Given the description of an element on the screen output the (x, y) to click on. 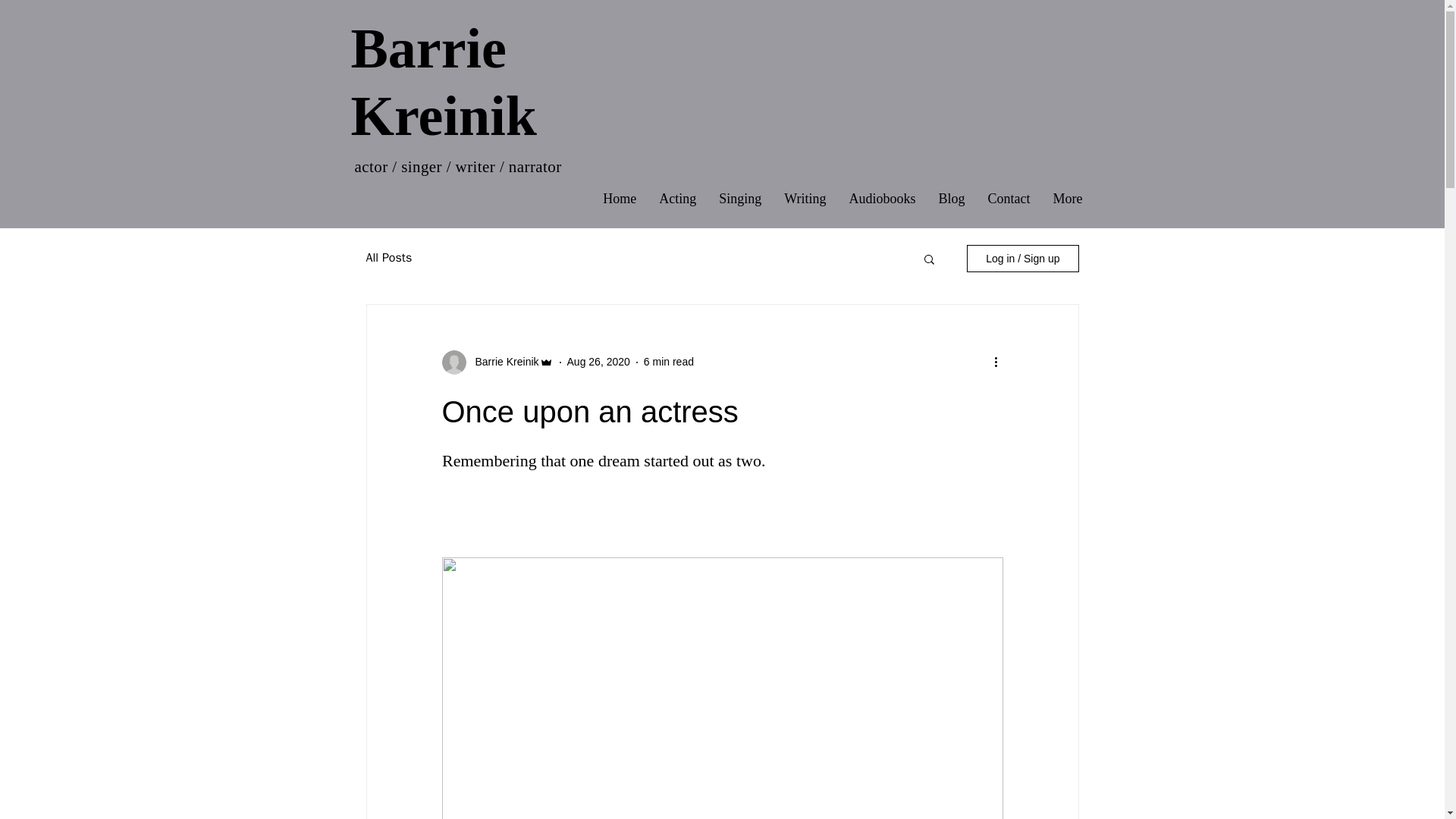
Audiobooks (881, 200)
Barrie Kreinik (442, 82)
Aug 26, 2020 (598, 361)
Singing (740, 200)
Contact (1009, 200)
Writing (805, 200)
6 min read (668, 361)
Home (619, 200)
Barrie Kreinik (501, 361)
All Posts (388, 258)
Acting (677, 200)
Blog (950, 200)
